Given the description of an element on the screen output the (x, y) to click on. 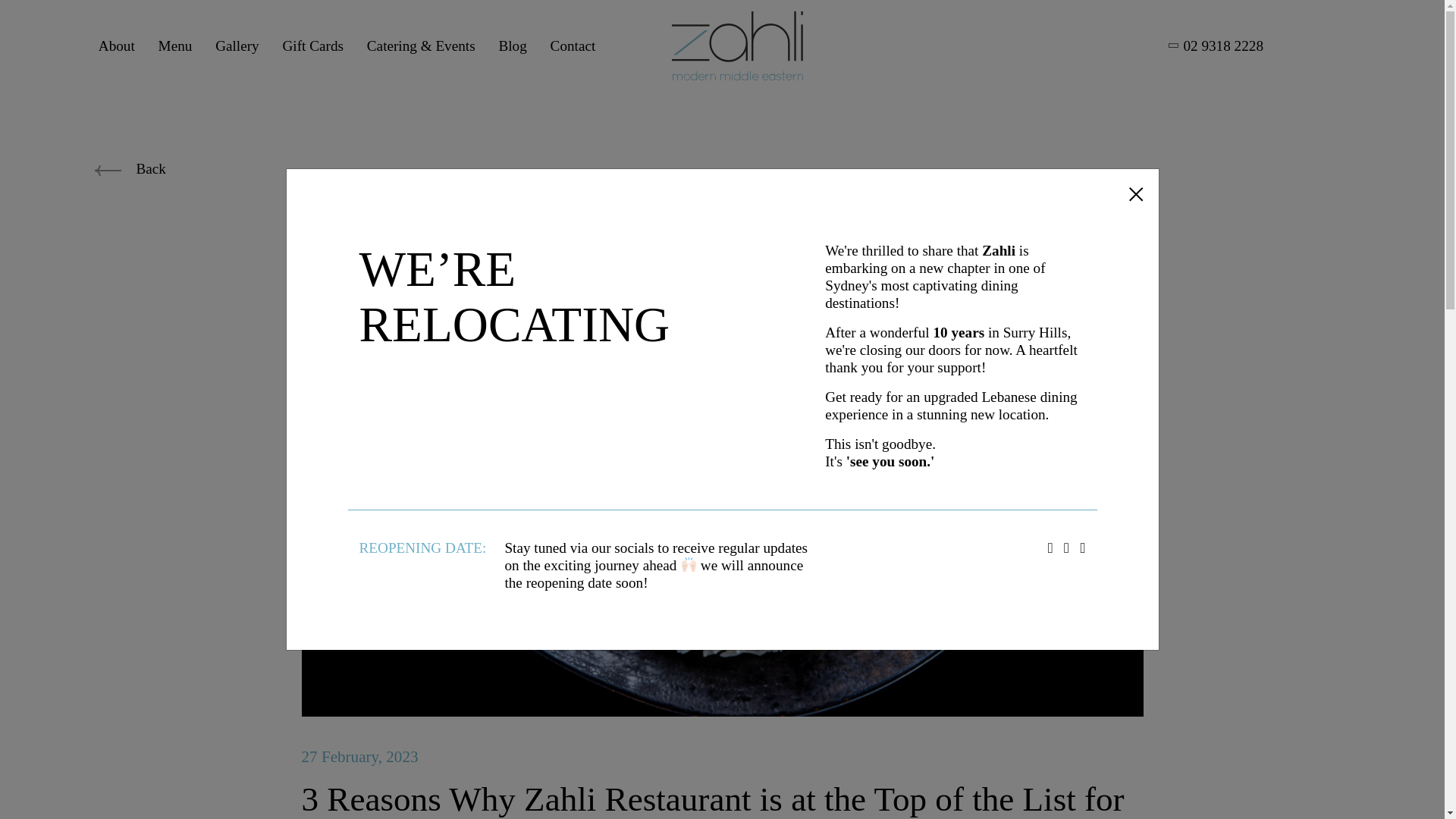
Gift Cards (312, 45)
About (117, 45)
Contact (572, 45)
Blog (511, 45)
Gallery (237, 45)
02 9318 2228 (1216, 45)
Menu (175, 45)
Back (129, 168)
